Given the description of an element on the screen output the (x, y) to click on. 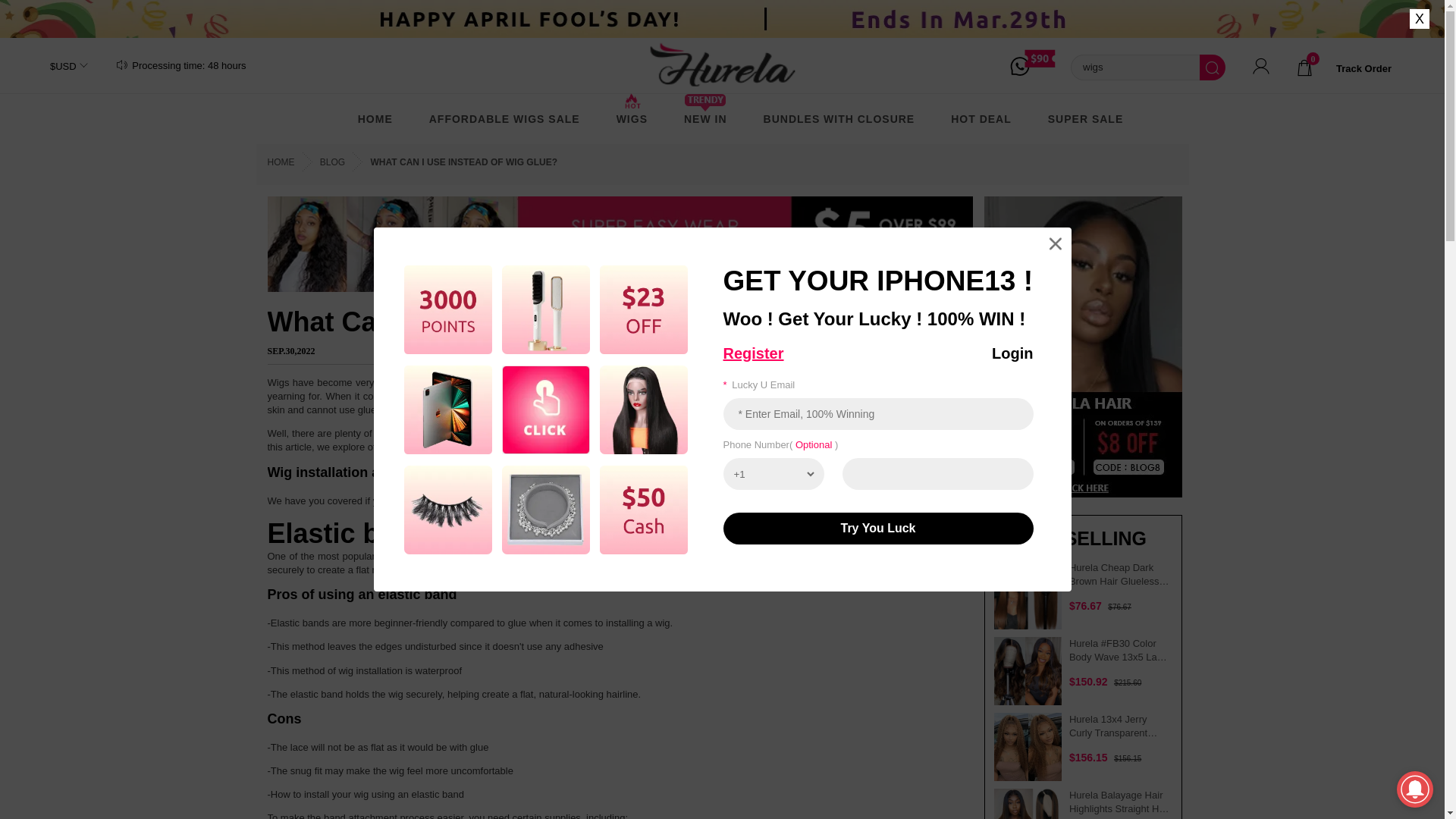
WIGS (631, 118)
Coupon code (1040, 65)
wigs (1134, 67)
AFFORDABLE WIGS SALE (504, 118)
Track Order (1363, 68)
Lace Part Wig (504, 118)
HOME (375, 118)
Wigs (631, 118)
track order (1363, 68)
hurela hair Mall (722, 67)
Home (375, 118)
wigs (1134, 67)
Currency (61, 66)
Search (1212, 67)
